Given the description of an element on the screen output the (x, y) to click on. 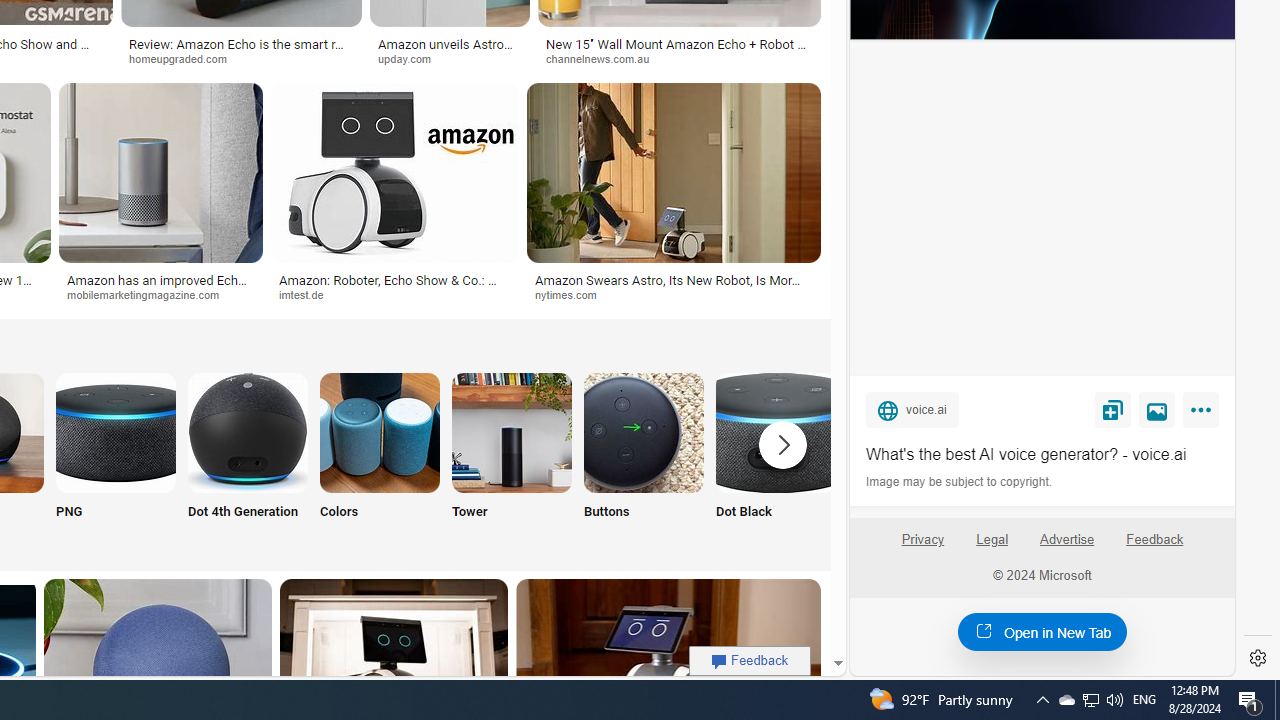
Advertise (1066, 539)
Tower (511, 457)
Amazon Echo Tower (511, 432)
Amazon Echo Colors Colors (380, 458)
Legal (992, 547)
nytimes.com (673, 295)
upday.com (411, 57)
channelnews.com.au (679, 58)
